Given the description of an element on the screen output the (x, y) to click on. 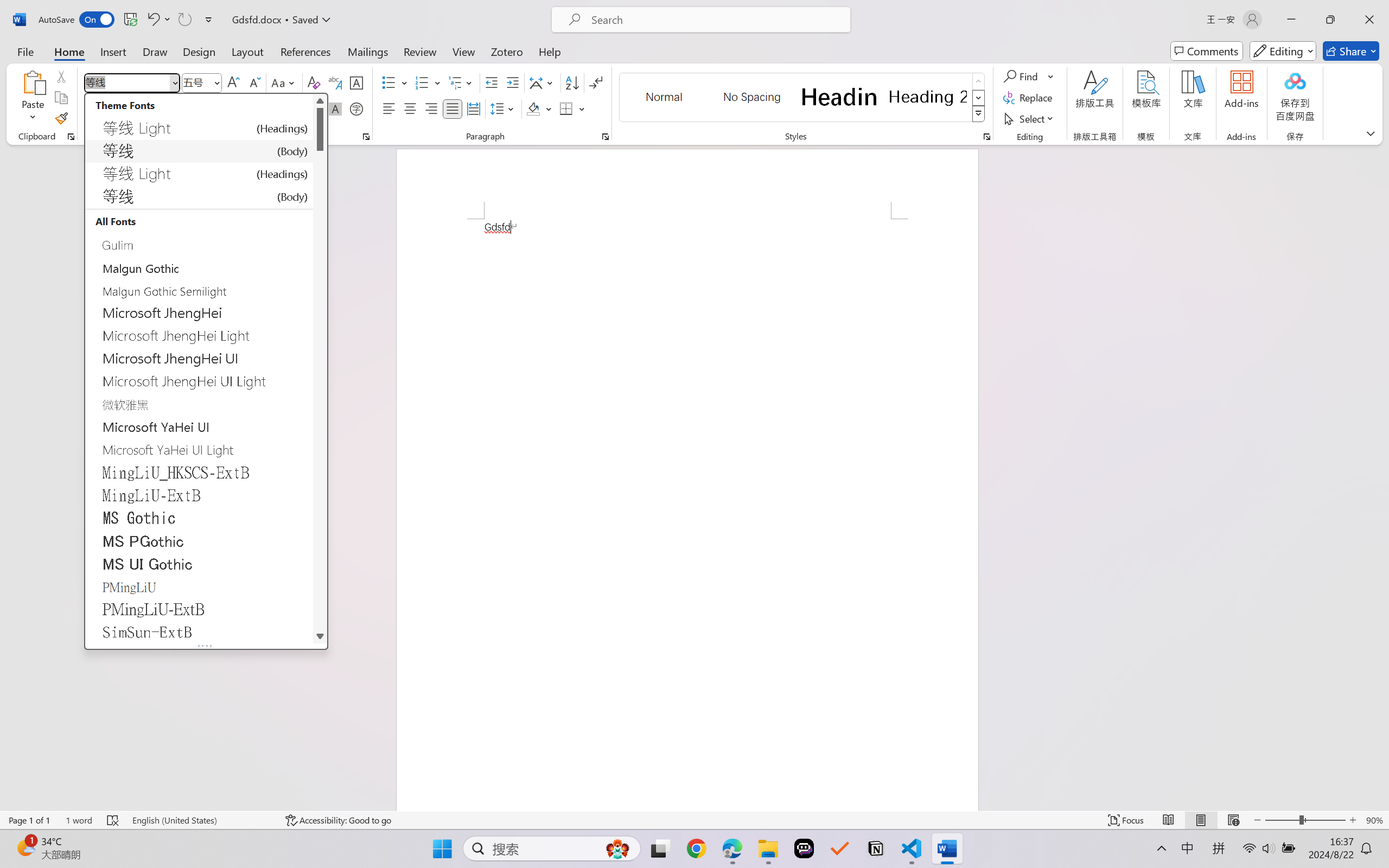
Character Border (356, 82)
Font Color Red (302, 108)
Character Shading (334, 108)
Center (409, 108)
Page down (319, 390)
Malgun Gothic (198, 267)
Asian Layout (542, 82)
Can't Repeat (184, 19)
